Given the description of an element on the screen output the (x, y) to click on. 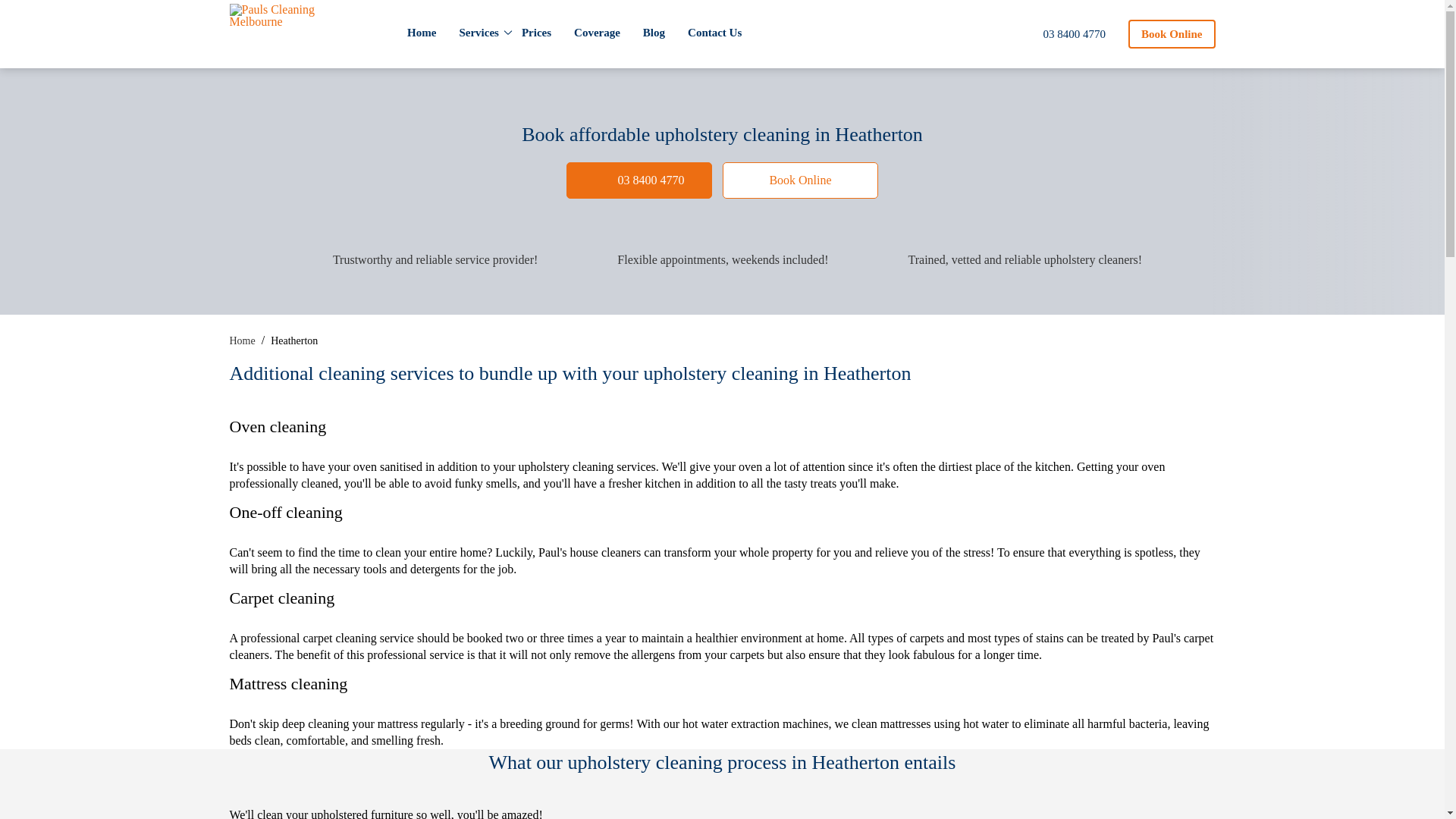
Coverage (596, 32)
Contact Us (714, 32)
Blog (654, 32)
Prices (536, 32)
Home (421, 32)
Book Online (638, 180)
Book Online (799, 180)
call (1063, 34)
Services (477, 32)
03 8400 4770 (1063, 34)
Book Online (1171, 33)
Book Online (1171, 33)
